Given the description of an element on the screen output the (x, y) to click on. 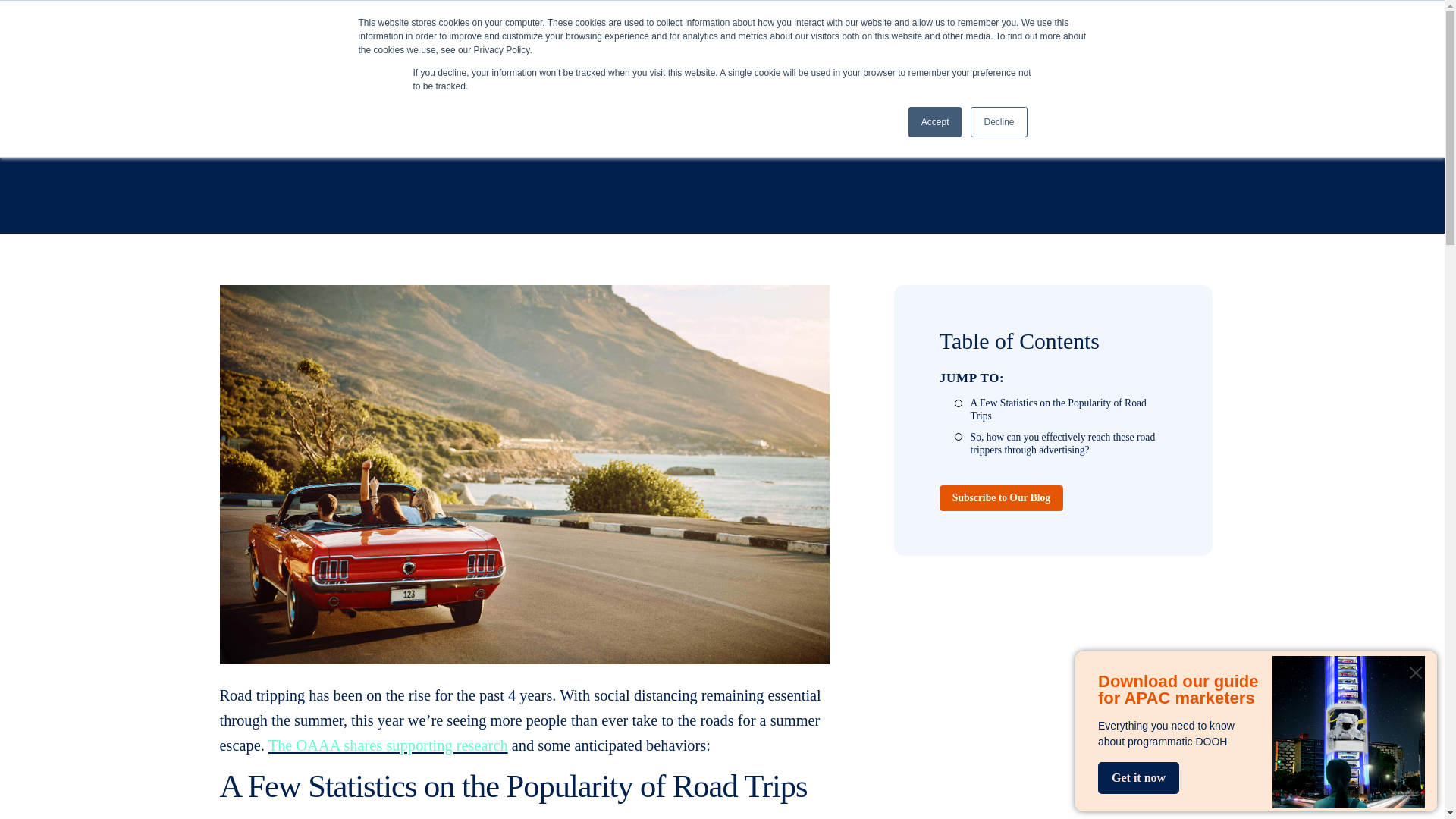
A Few Statistics on the Popularity of Road Trips (1247, 482)
Solutions (1015, 39)
Decline (998, 122)
Marissa Bernstein (248, 171)
Accept (935, 122)
About (1335, 39)
Popup CTA (1256, 731)
Subscribe to Our Blog (1177, 585)
Products (1107, 39)
Knowledge Center (1225, 39)
